Given the description of an element on the screen output the (x, y) to click on. 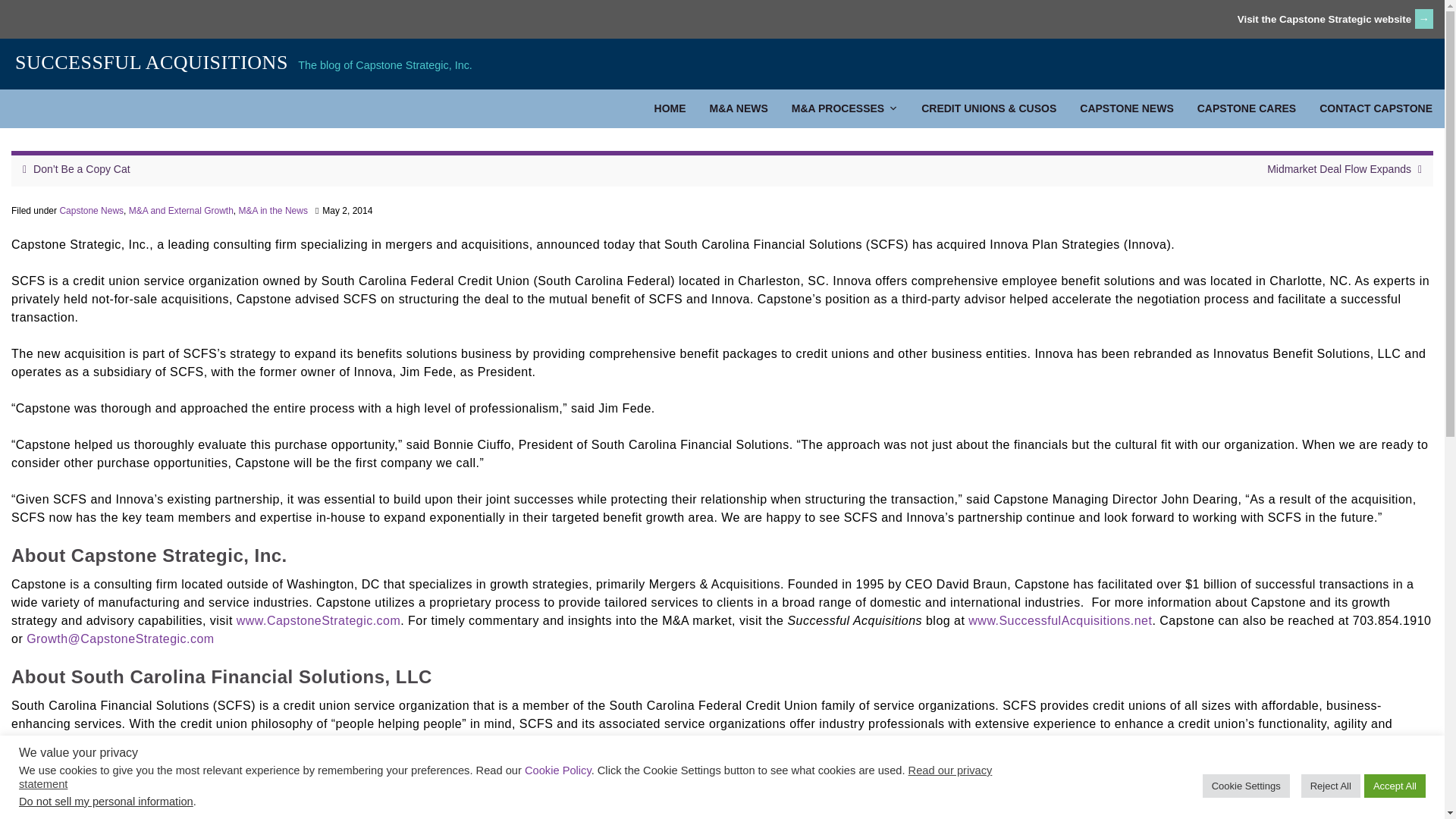
www.CapstoneStrategic.com (318, 620)
CAPSTONE CARES (1246, 108)
Midmarket Deal Flow Expands (1338, 168)
HOME (670, 108)
2014-05-02T08:51:18-04:00 (346, 210)
SouthCarolinaFinancialSolutions.org (666, 741)
CAPSTONE NEWS (1126, 108)
Visit the Capstone Strategic website (1323, 19)
Capstone News (91, 210)
www.SuccessfulAcquisitions.net (1059, 620)
